Given the description of an element on the screen output the (x, y) to click on. 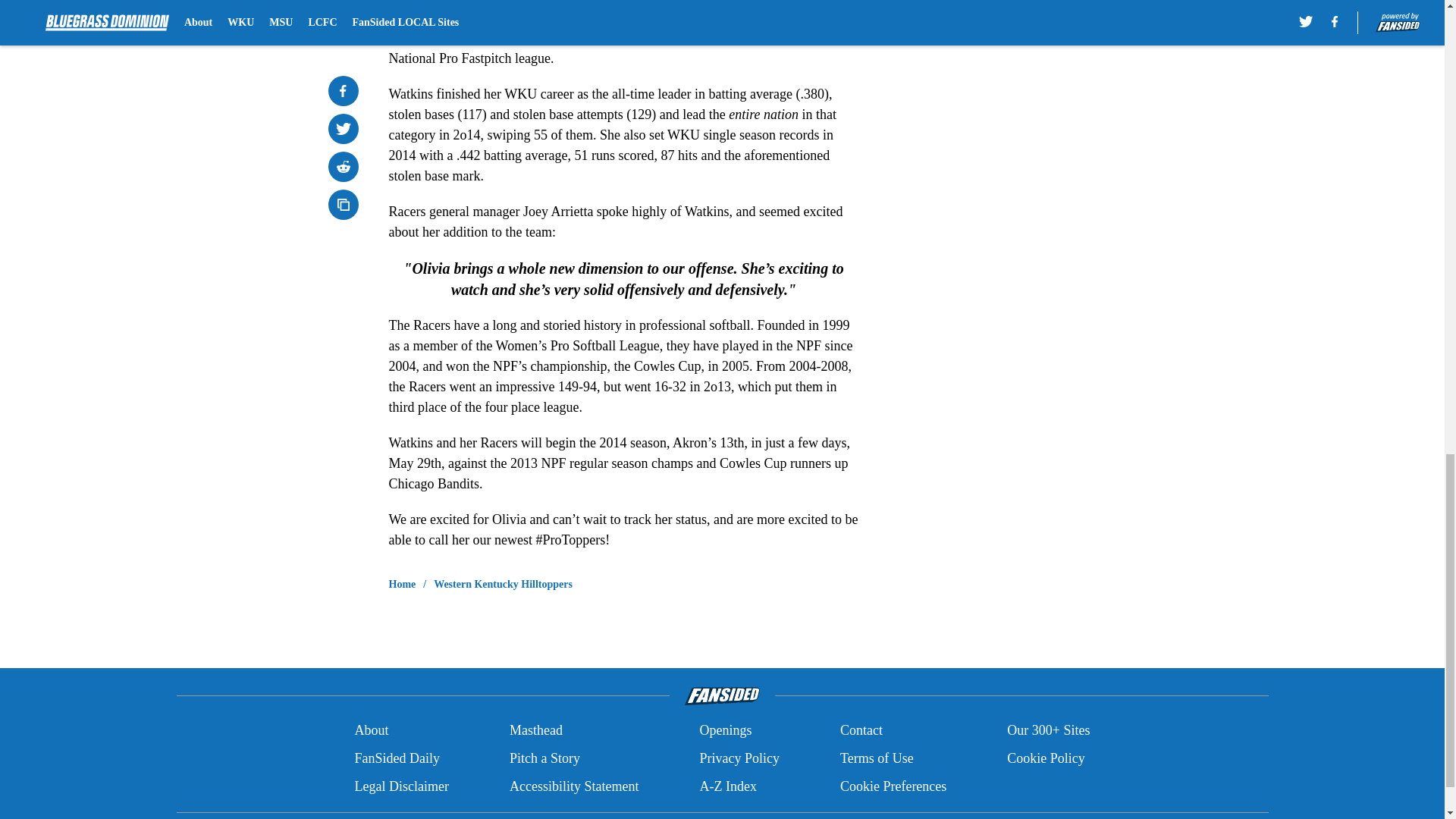
Western Kentucky Hilltoppers (502, 584)
About (370, 730)
Privacy Policy (738, 758)
Contact (861, 730)
Terms of Use (877, 758)
A-Z Index (726, 786)
Masthead (535, 730)
Openings (724, 730)
Pitch a Story (544, 758)
FanSided Daily (396, 758)
Olivia Watkins (571, 37)
Home (401, 584)
Cookie Preferences (893, 786)
Cookie Policy (1045, 758)
Legal Disclaimer (400, 786)
